Given the description of an element on the screen output the (x, y) to click on. 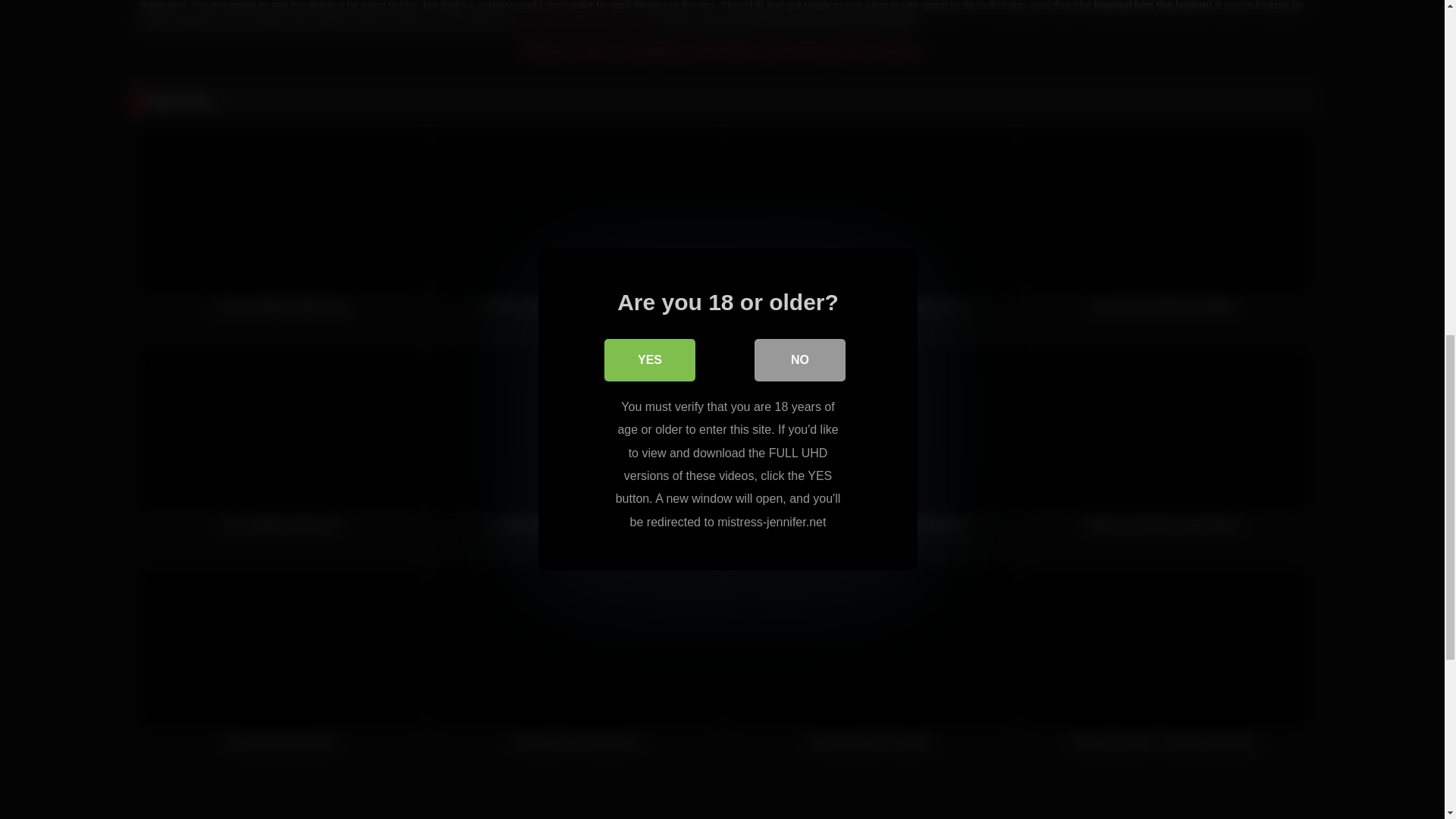
Playing with her humble servant (575, 448)
An extreme female domination (1163, 230)
Professors Of Punishment (575, 666)
An extreme female domination (1163, 230)
Two naughty mistresses (281, 448)
Two Blonde Mistresses (281, 666)
Pussy Licking Trample Slut (281, 230)
Professors Of Punishment (575, 666)
Mistress Emily Boot and Strapon (1163, 448)
Hot Mistresses In Leather (869, 666)
Mistress Emily Boot and Strapon (1163, 448)
Two naughty mistresses (281, 448)
Two Blonde Mistresses (281, 666)
Watch here naughty Jennifer punishing her slave! (721, 49)
Hot Mistresses In Leather (869, 666)
